Given the description of an element on the screen output the (x, y) to click on. 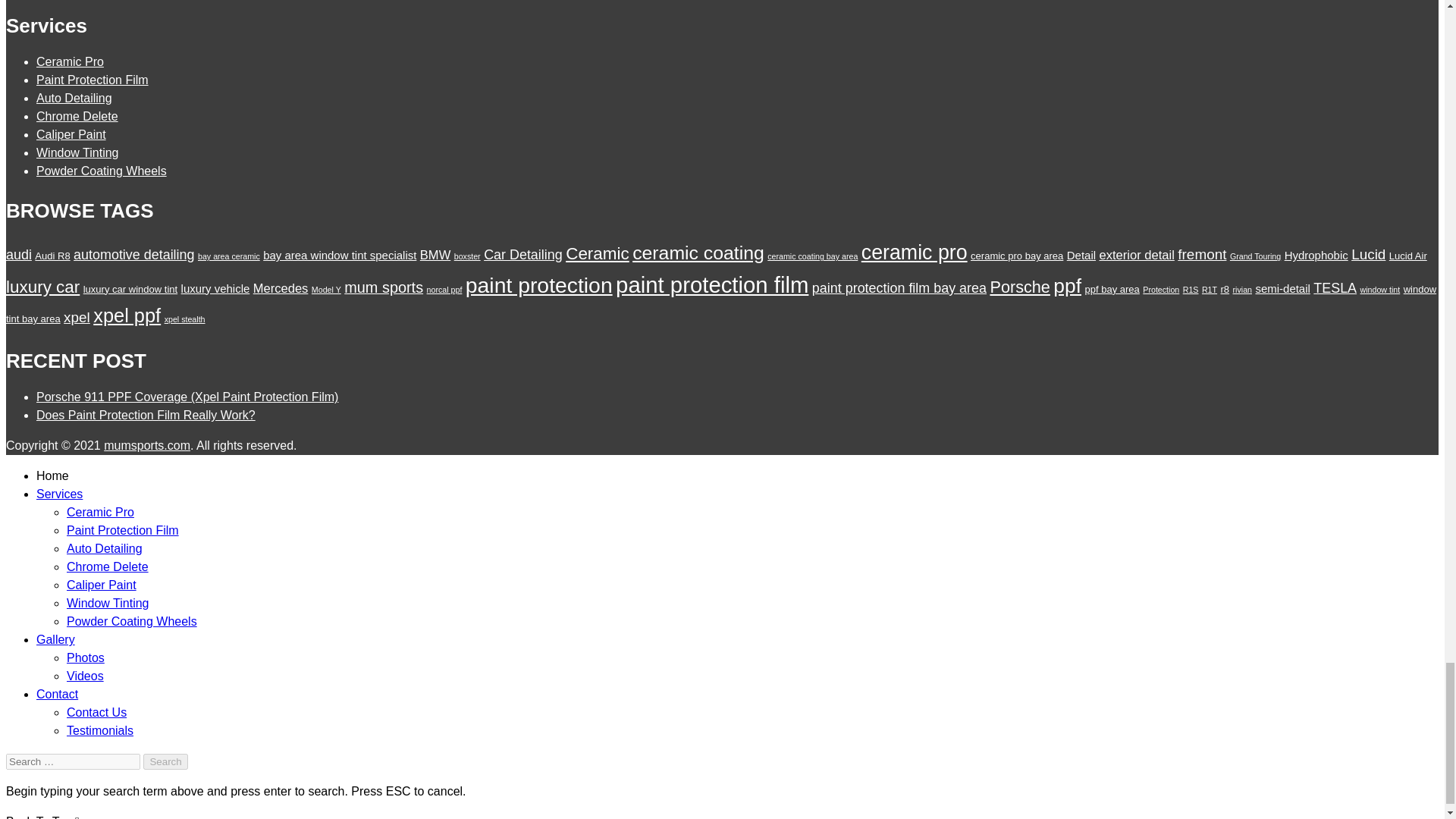
Search (164, 761)
mumsports.com (146, 445)
Search (164, 761)
